Given the description of an element on the screen output the (x, y) to click on. 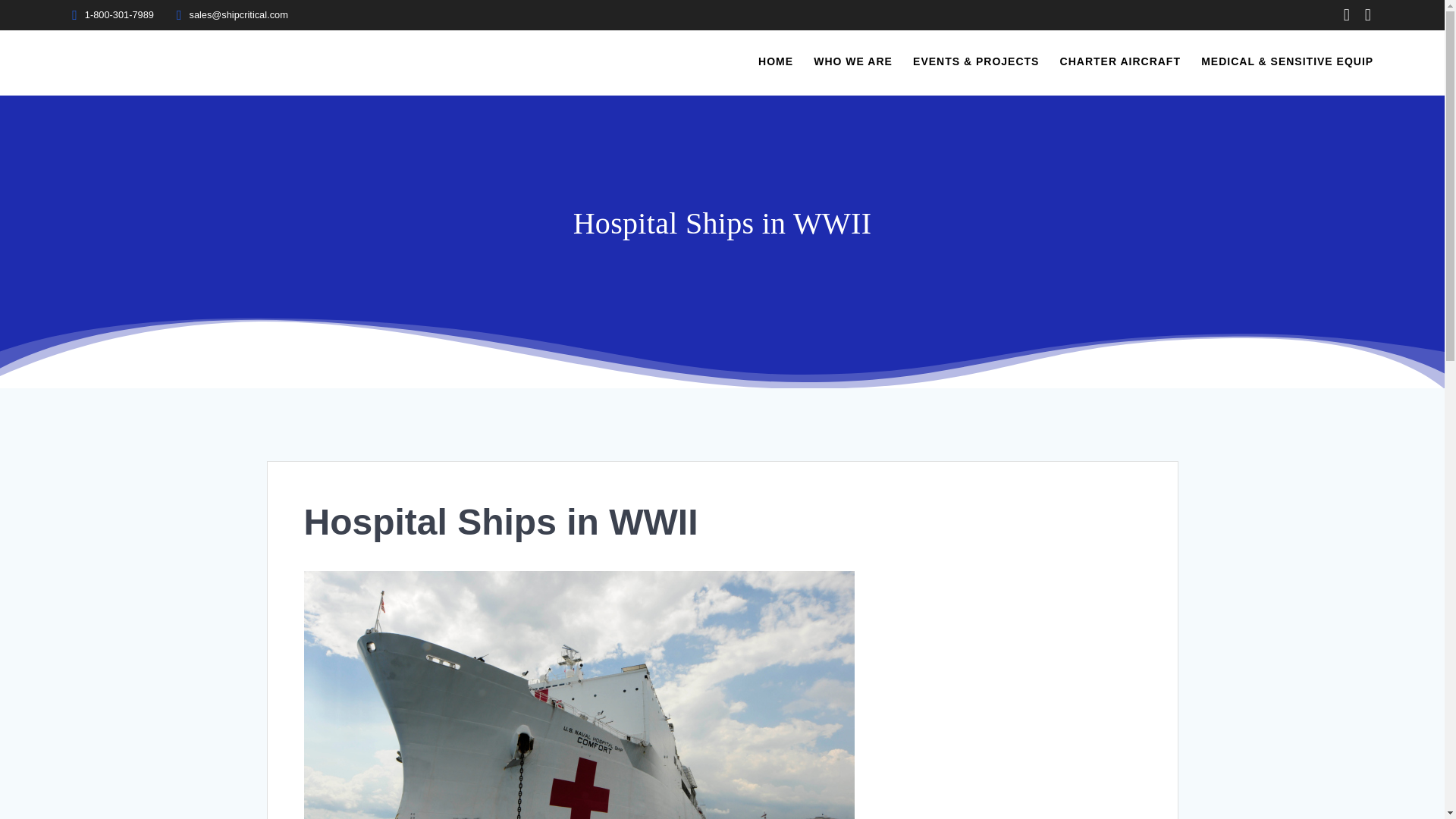
HOME (775, 62)
CHARTER AIRCRAFT (1119, 62)
WHO WE ARE (852, 62)
